Given the description of an element on the screen output the (x, y) to click on. 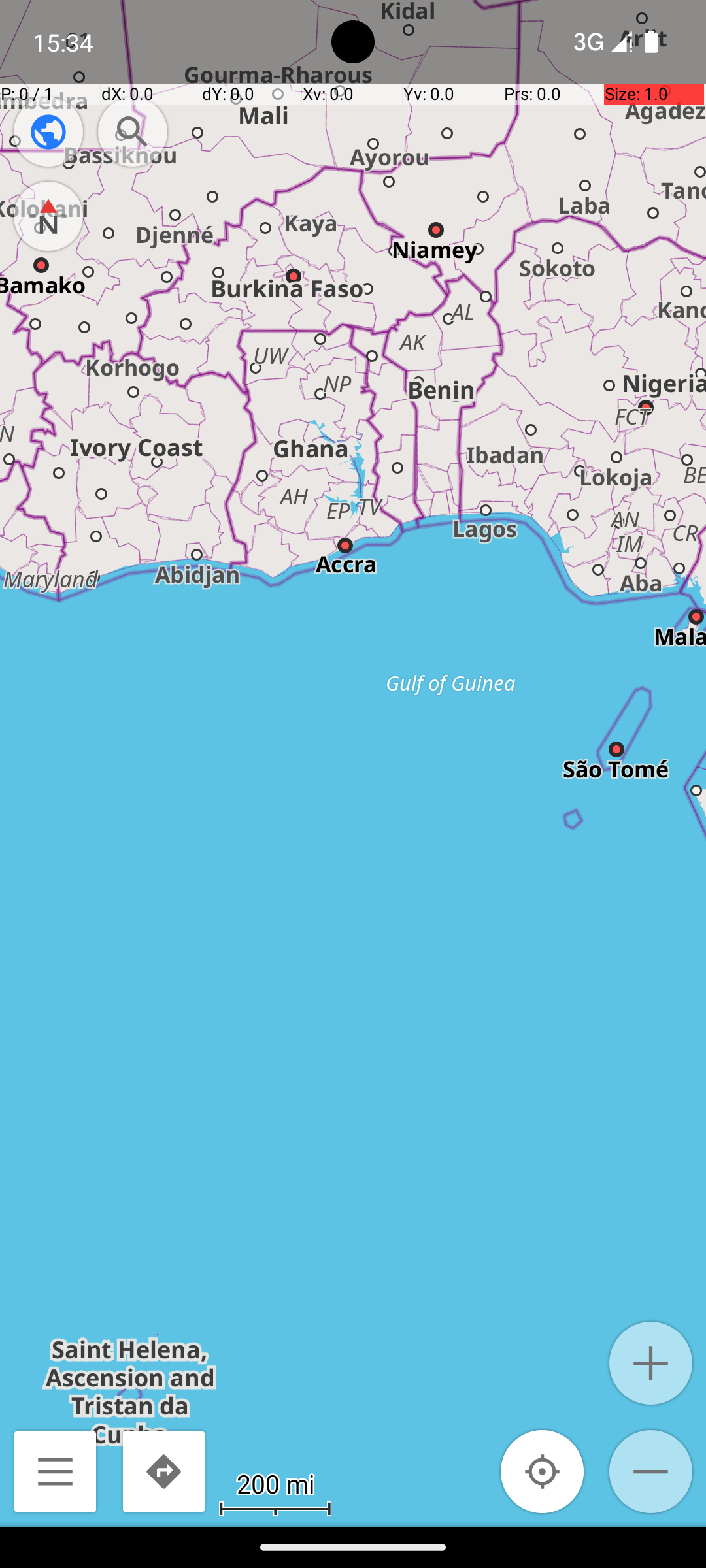
Map Element type: android.view.View (353, 763)
Configure map Element type: android.widget.ImageButton (48, 131)
North is up Element type: android.widget.ImageButton (48, 216)
Back to menu Element type: android.widget.ImageButton (55, 1471)
Route Element type: android.widget.ImageButton (163, 1471)
200 mi Element type: android.widget.TextView (274, 1483)
Position not yet known. Element type: android.widget.ImageButton (542, 1471)
Zoom in Element type: android.widget.ImageButton (650, 1362)
Zoom out Element type: android.widget.ImageButton (650, 1471)
